Given the description of an element on the screen output the (x, y) to click on. 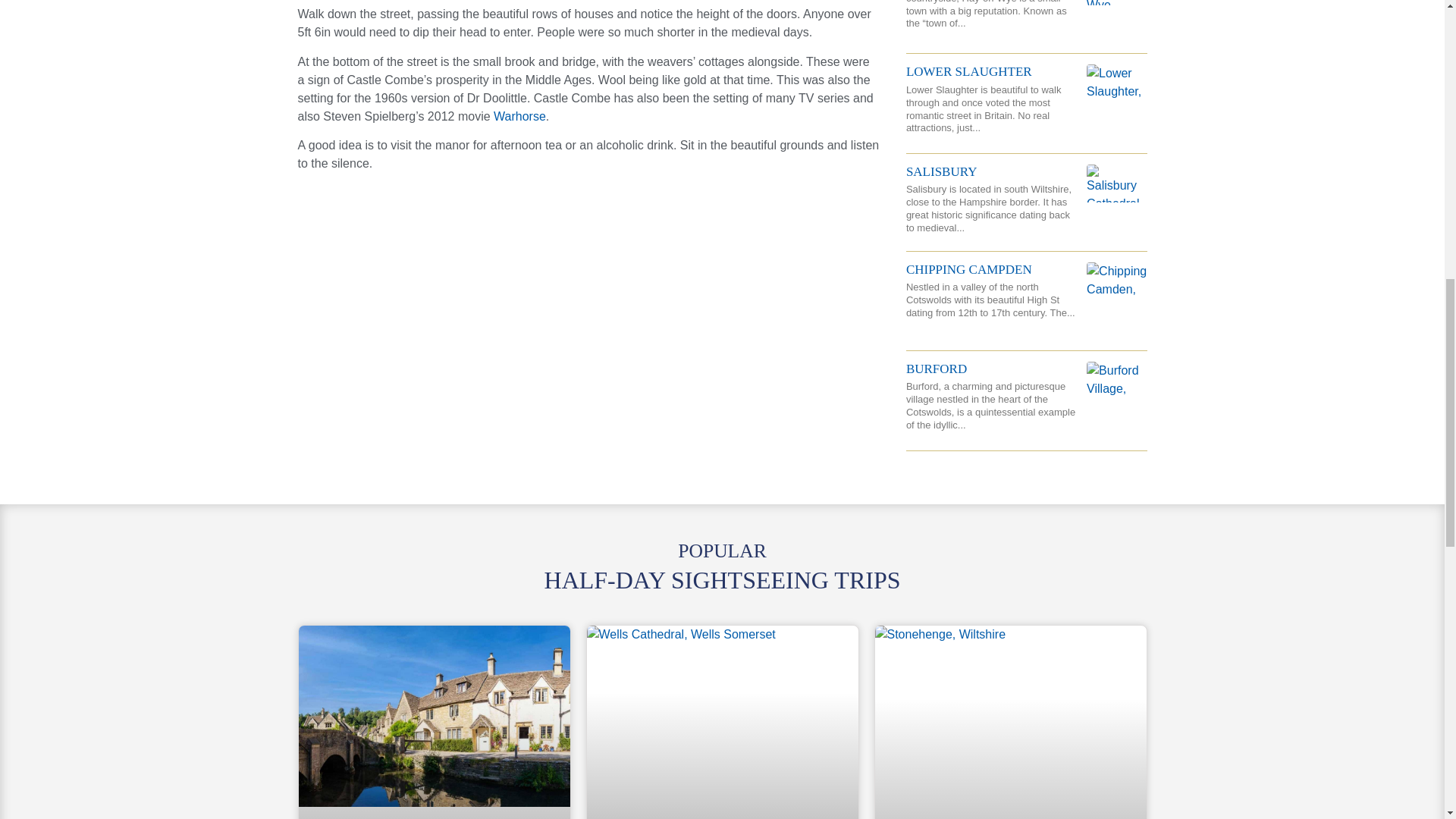
Warhorse (519, 115)
